Given the description of an element on the screen output the (x, y) to click on. 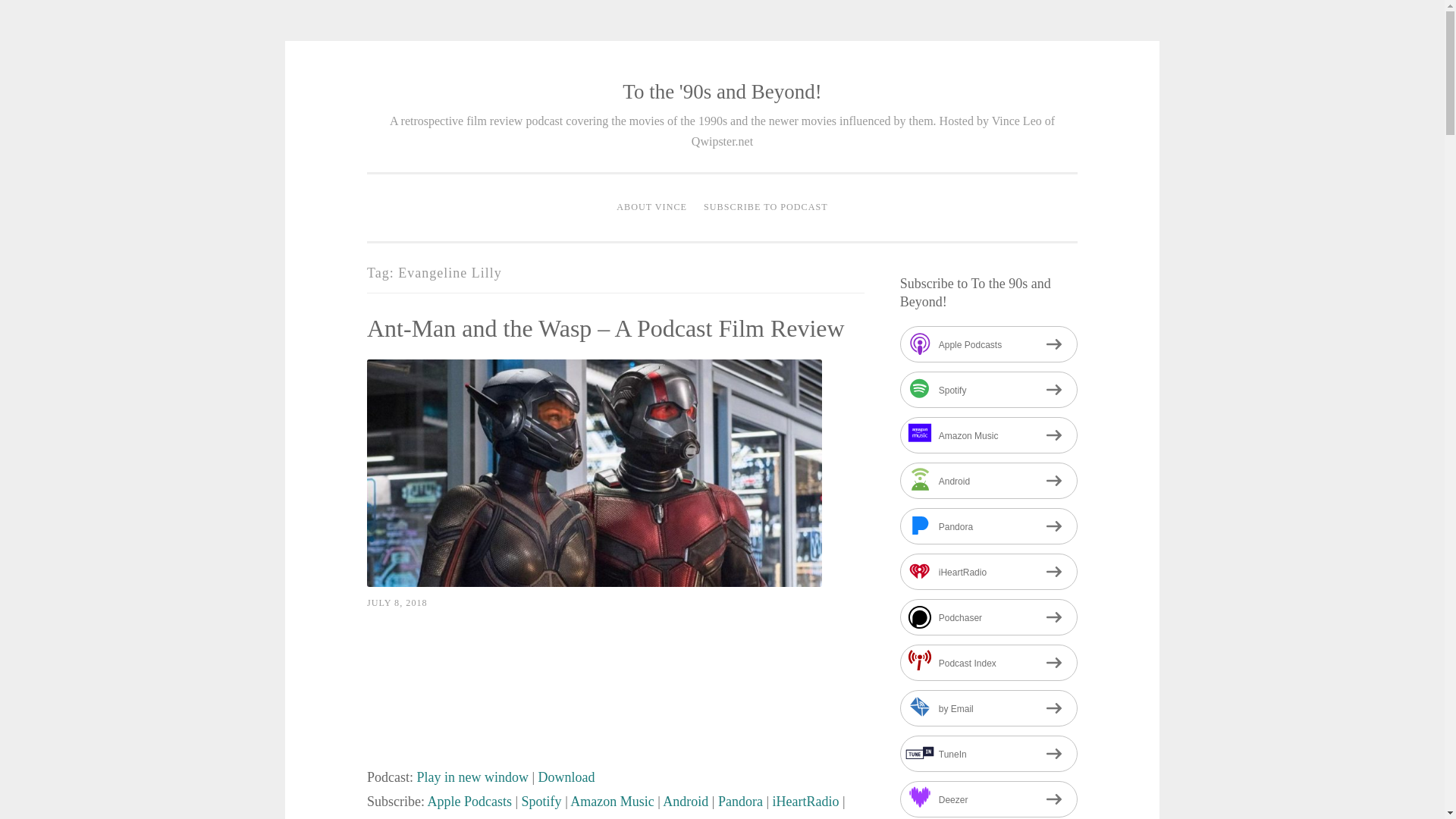
Subscribe on Apple Podcasts (988, 343)
Subscribe on Deezer (628, 817)
Subscribe on Spotify (541, 800)
Subscribe via RSS (670, 817)
Podchaser (988, 616)
Blubrry Podcast Player (615, 695)
To the '90s and Beyond! (722, 91)
Apple Podcasts (470, 800)
Search (22, 9)
Pandora (739, 800)
Pandora (988, 525)
Spotify (541, 800)
TuneIn (579, 817)
Amazon Music (988, 434)
